Given the description of an element on the screen output the (x, y) to click on. 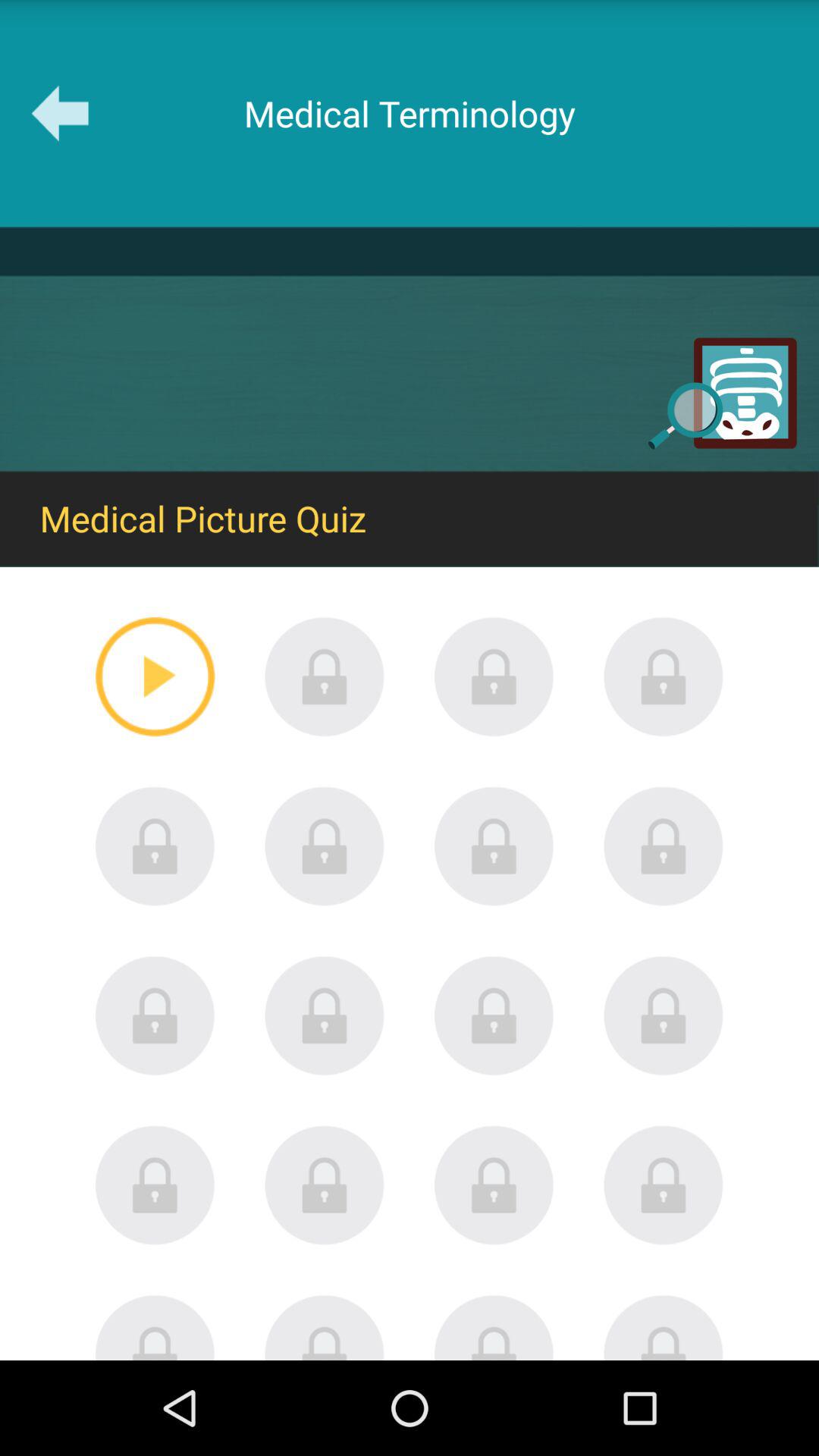
lock screen (324, 1184)
